Given the description of an element on the screen output the (x, y) to click on. 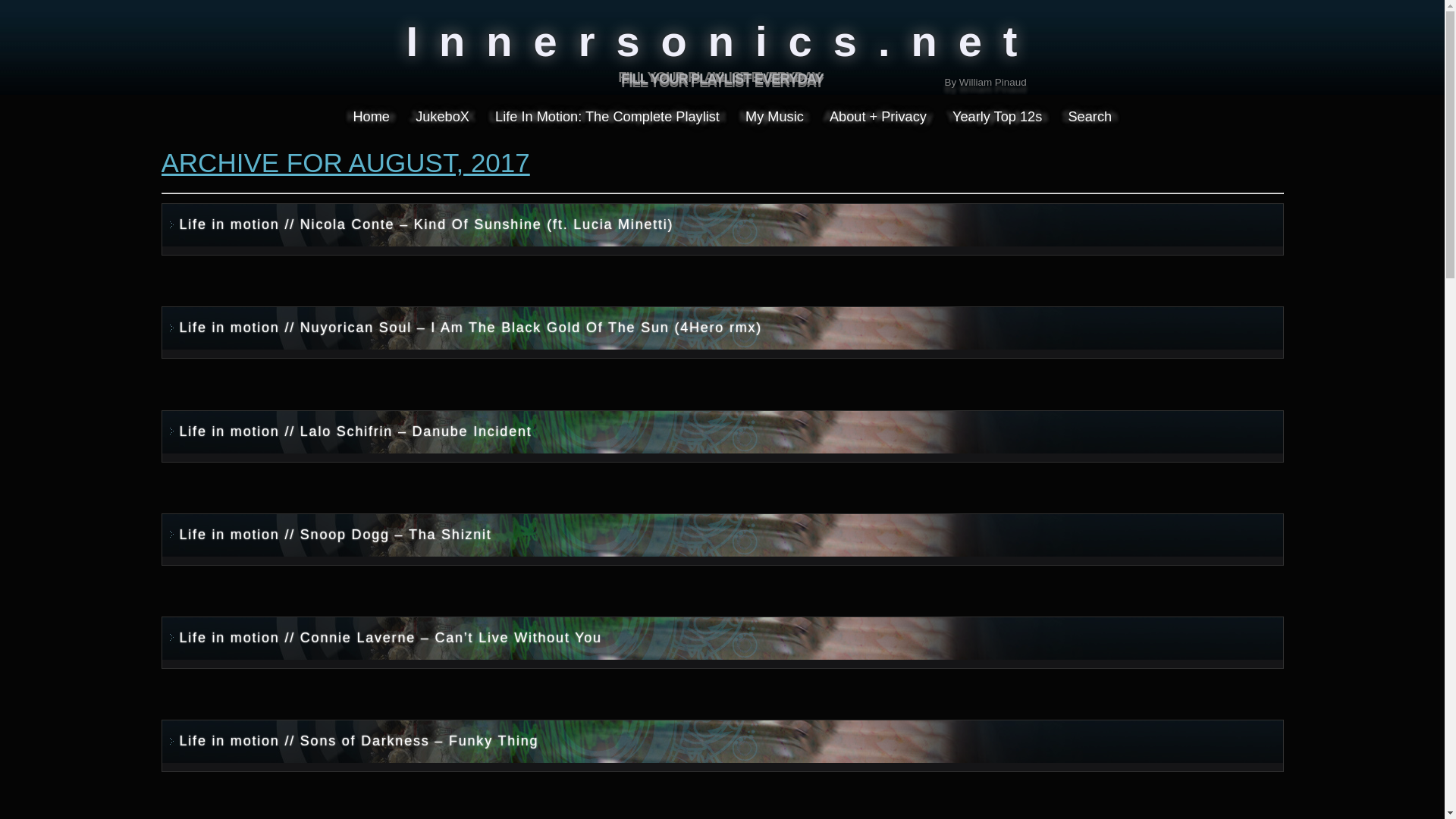
Back to the home page (722, 78)
Back to the home page (721, 78)
ARCHIVE FOR AUGUST, 2017 (344, 162)
Home (371, 117)
Life In Motion: The Complete Playlist (606, 117)
Search (1089, 117)
My Music (773, 117)
JukeboX (442, 117)
Home (371, 117)
Yearly Top 12s (996, 117)
FILL YOUR PLAYLIST EVERYDAY (721, 78)
